Given the description of an element on the screen output the (x, y) to click on. 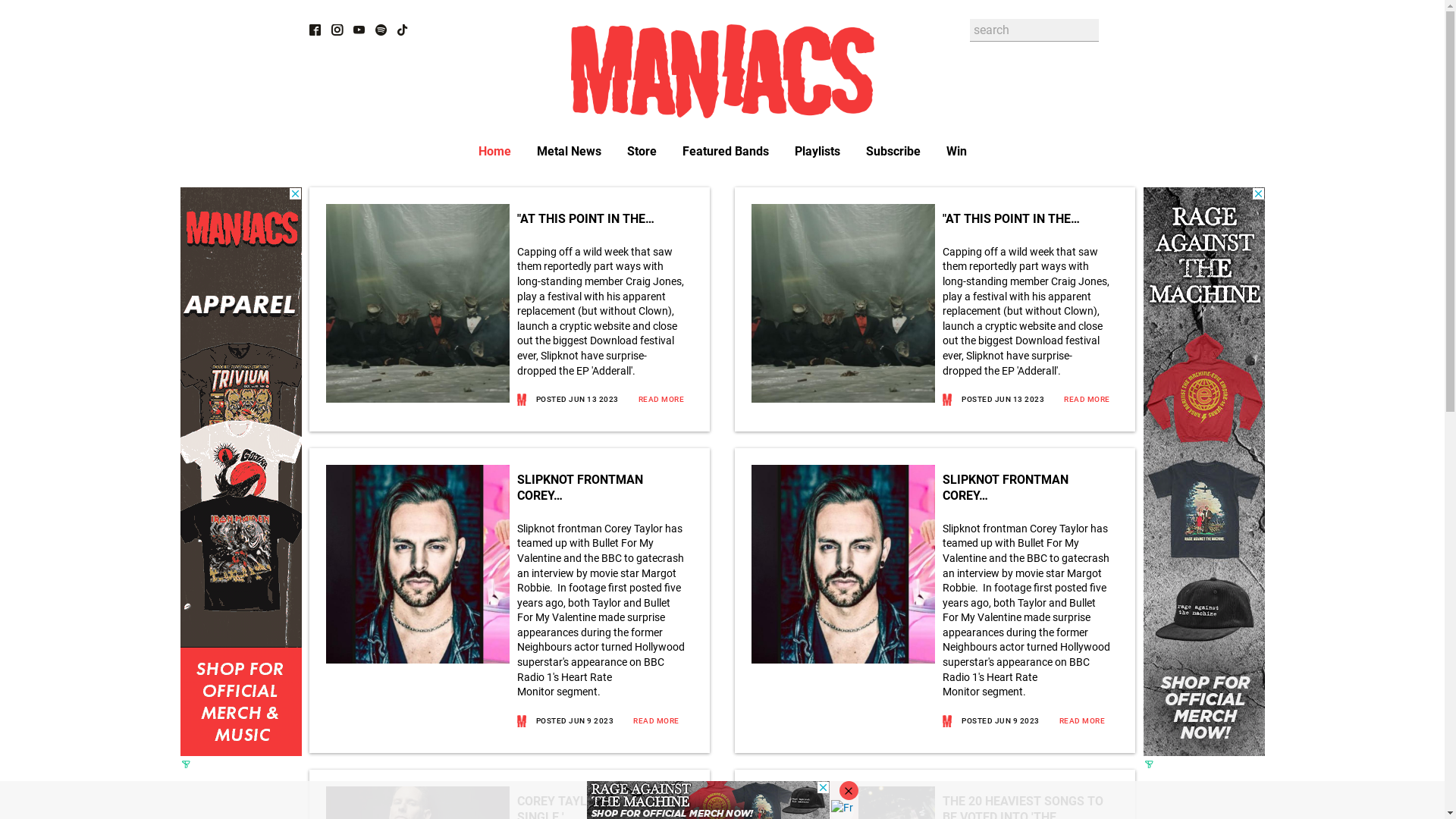
READ MORE Element type: text (651, 398)
3rd party ad content Element type: hover (240, 471)
Subscribe Element type: text (893, 151)
Instagram Element type: hover (336, 29)
READ MORE Element type: text (1072, 720)
Featured Bands Element type: text (725, 151)
maniacs Logo Element type: hover (721, 71)
tiktok Element type: hover (402, 29)
spotify Element type: hover (379, 29)
3rd party ad content Element type: hover (1203, 471)
Metal News Element type: text (568, 151)
Skip to main content Element type: text (722, 1)
Facebook Element type: hover (314, 29)
Youtube Element type: hover (358, 29)
READ MORE Element type: text (646, 720)
Playlists Element type: text (817, 151)
Home Element type: text (493, 151)
READ MORE Element type: text (1077, 398)
Store Element type: text (640, 151)
Win Element type: text (956, 151)
